Given the description of an element on the screen output the (x, y) to click on. 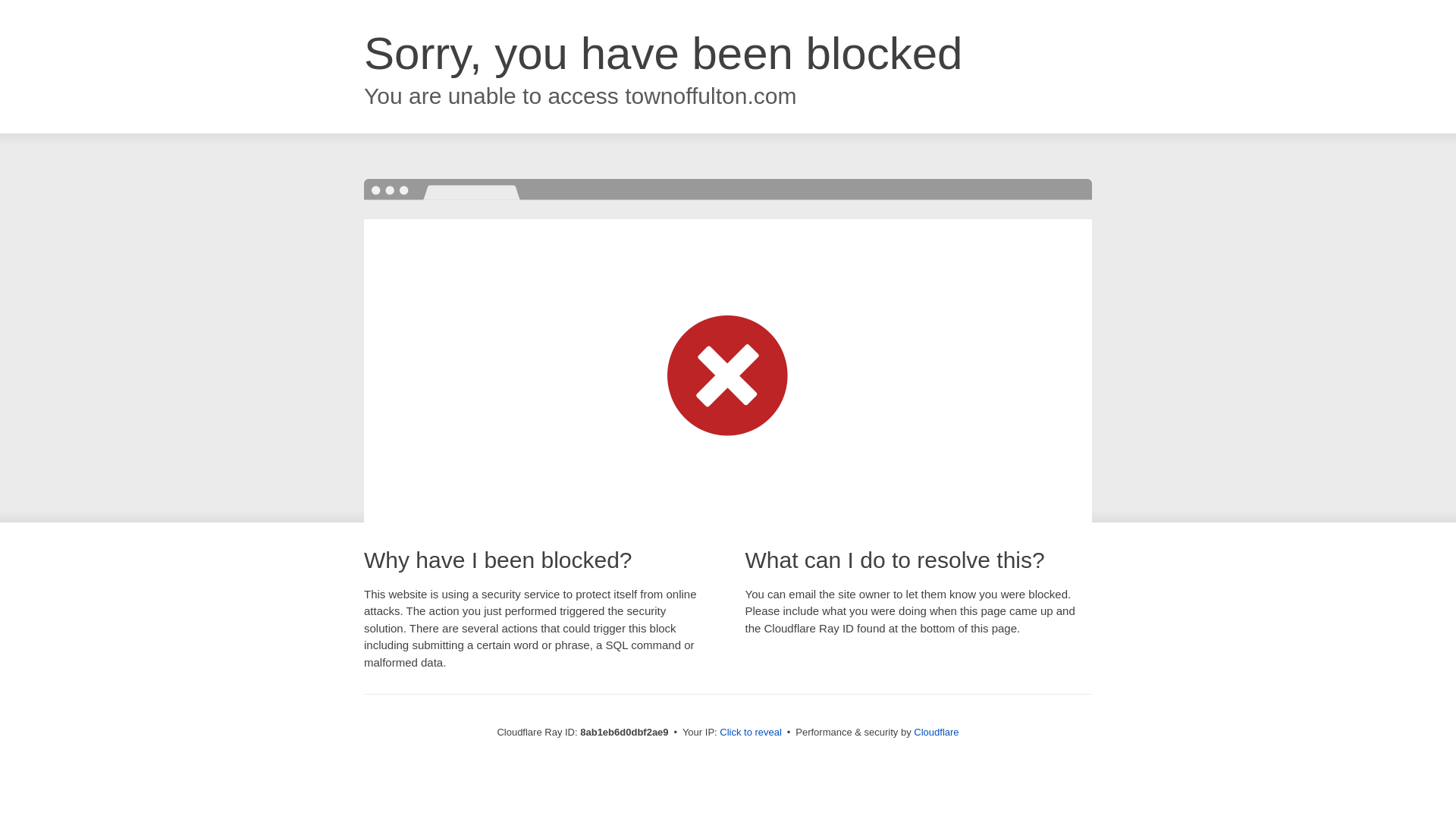
Click to reveal (750, 732)
Cloudflare (936, 731)
